Given the description of an element on the screen output the (x, y) to click on. 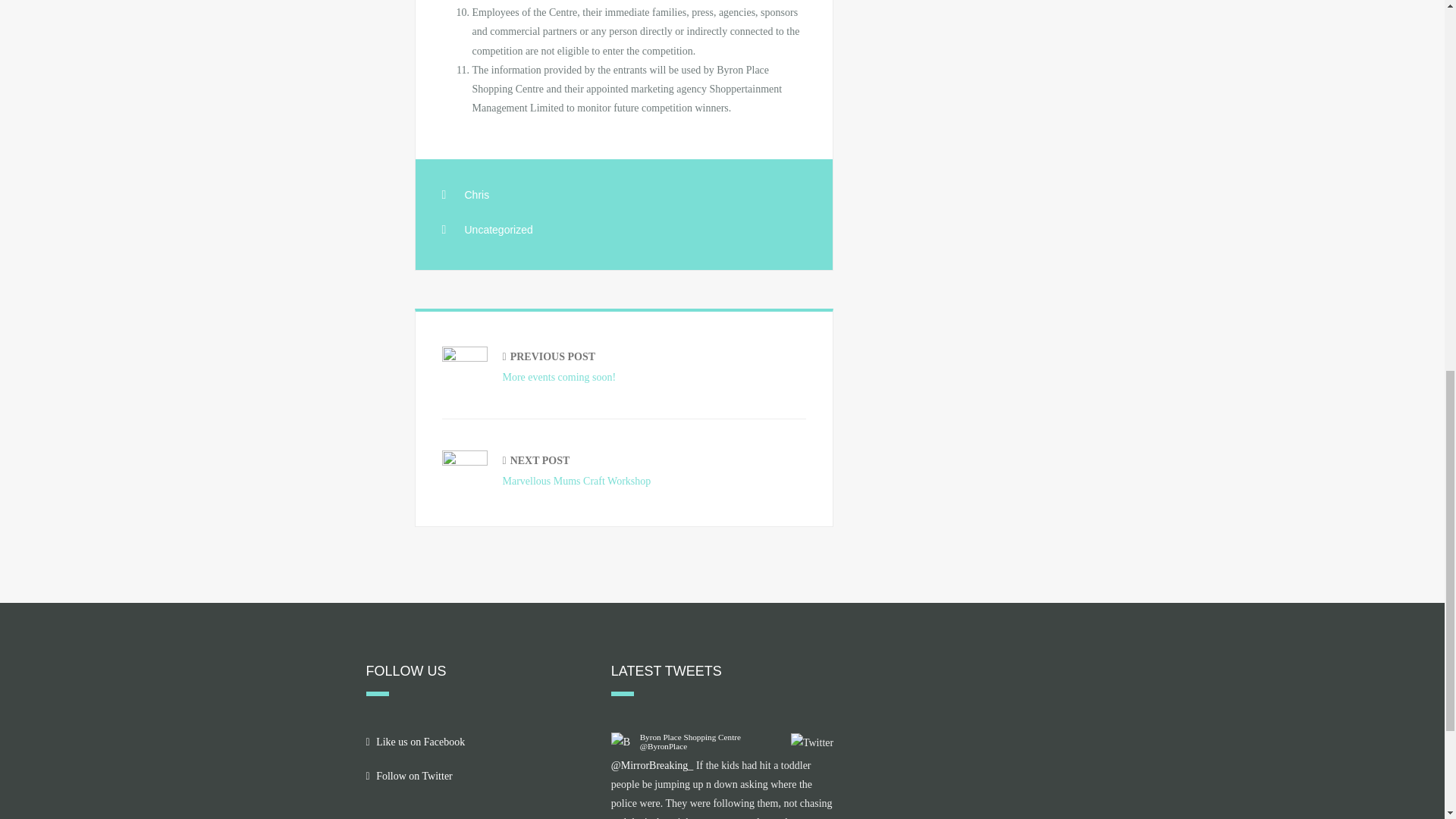
Byron Place Shopping Centre (623, 366)
Chris (663, 746)
Mirror Breaking News (476, 194)
Follow on Twitter (652, 765)
Uncategorized (408, 776)
Like us on Facebook (498, 228)
Byron Place Shopping Centre (414, 741)
Byron Place Shopping Centre (690, 737)
Byron Place Shopping Centre (690, 737)
